Given the description of an element on the screen output the (x, y) to click on. 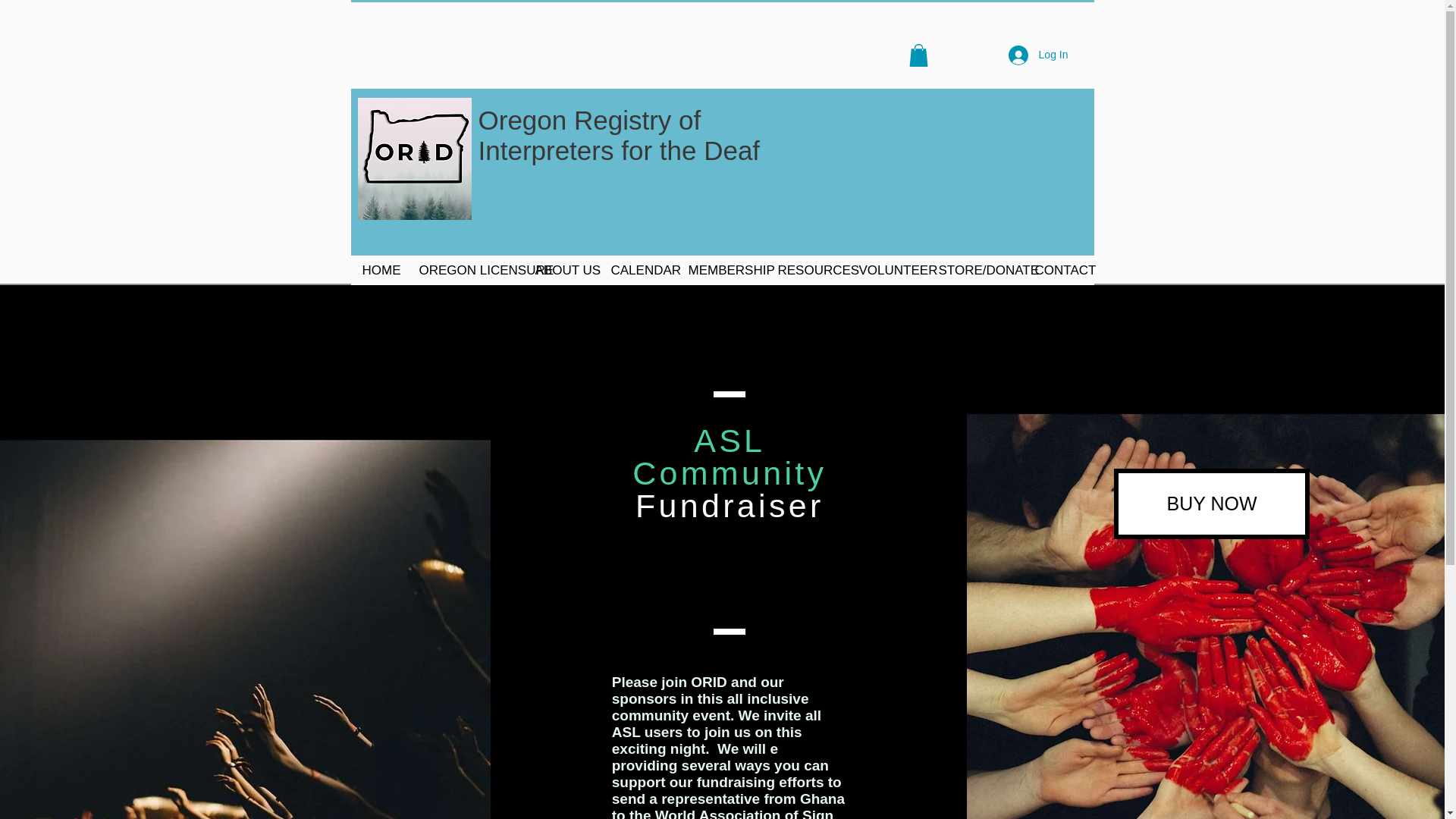
MEMBERSHIP (618, 135)
HOME (721, 270)
RESOURCES (378, 270)
VOLUNTEER (806, 270)
CALENDAR (885, 270)
ABOUT US (637, 270)
Log In (560, 270)
CONTACT (1037, 54)
BUY NOW (1057, 270)
OREGON LICENSURE (1210, 503)
